Given the description of an element on the screen output the (x, y) to click on. 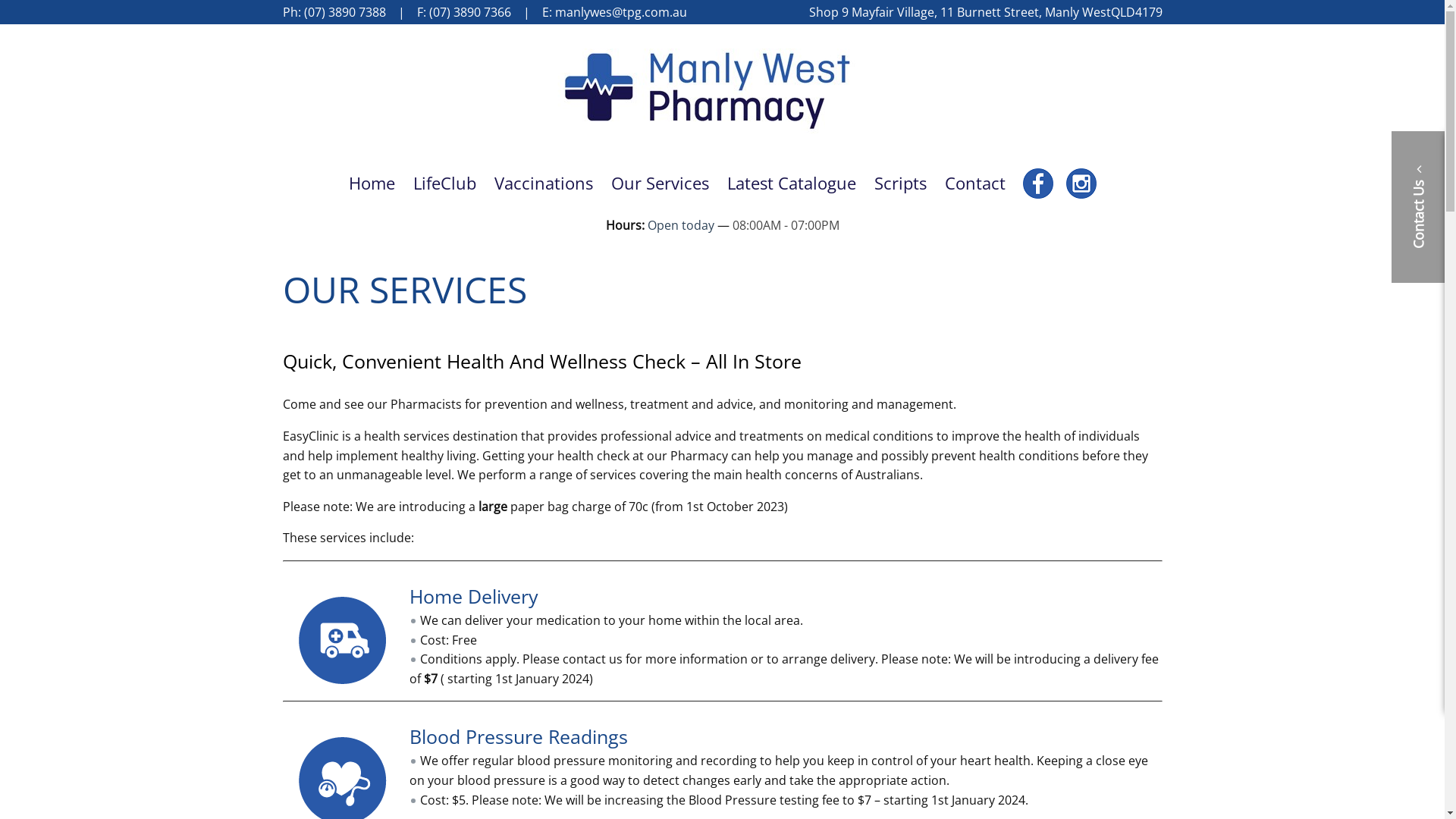
F: (07) 3890 7366 Element type: text (464, 11)
Like us on Facebook Element type: hover (1037, 193)
Vaccinations Element type: text (543, 182)
E: manlywes@tpg.com.au Element type: text (613, 11)
Follow us on Instagram Element type: hover (1081, 193)
LifeClub Element type: text (444, 182)
Scripts Element type: text (900, 182)
Contact Element type: text (975, 182)
Home Element type: text (371, 182)
Our Services Element type: text (659, 182)
Latest Catalogue Element type: text (791, 182)
08:00AM - 07:00PM Element type: text (785, 224)
Ph: (07) 3890 7388 Element type: text (333, 11)
home Element type: hover (722, 131)
